Given the description of an element on the screen output the (x, y) to click on. 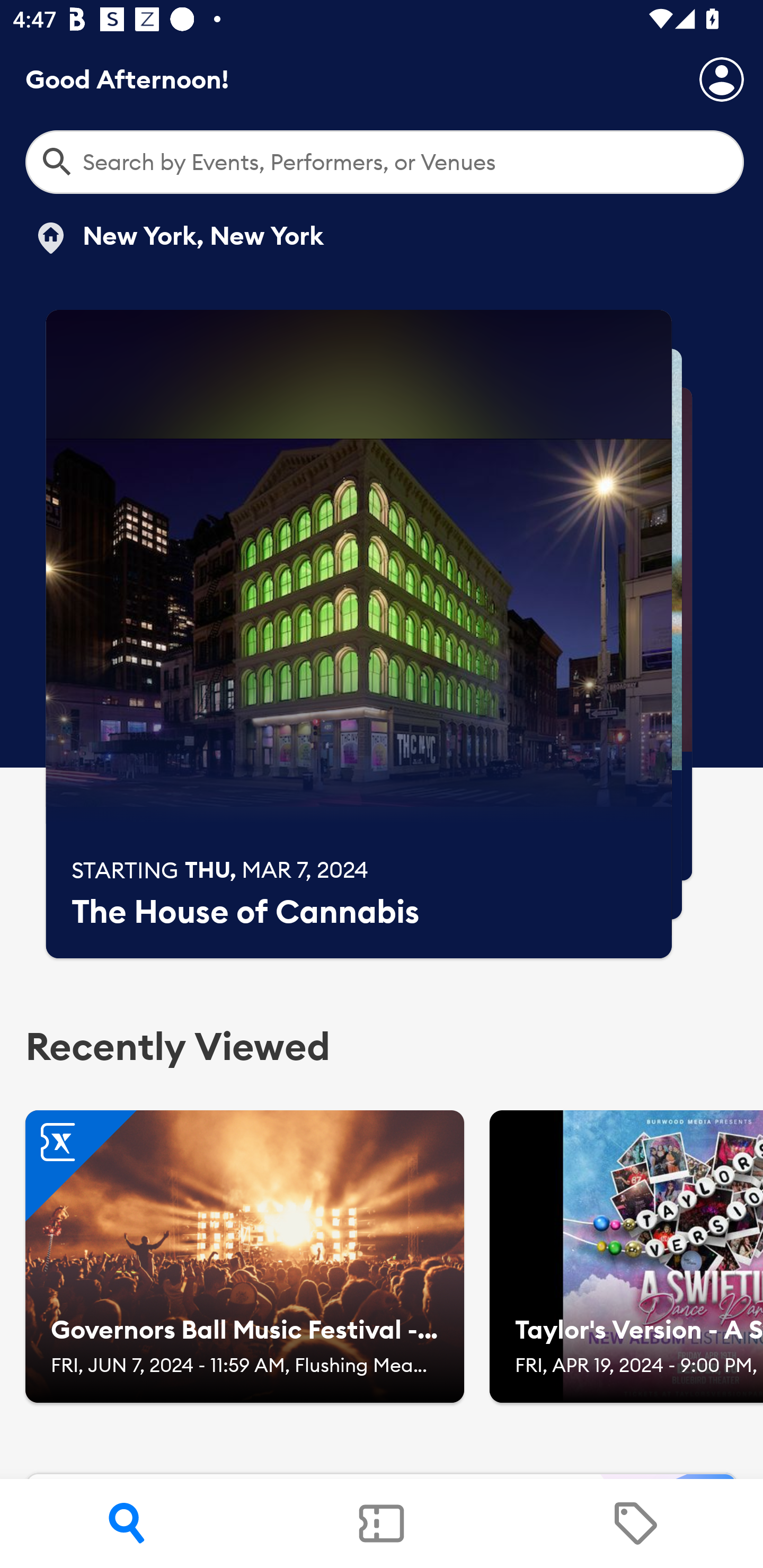
UserIcon (721, 78)
Search by Events, Performers, or Venues (384, 161)
New York, New York (177, 237)
STARTING THU, MAR 7, 2024 The House of Cannabis (358, 634)
Menu Item: Tickets (381, 1523)
Menu Item: Resale (635, 1523)
